Given the description of an element on the screen output the (x, y) to click on. 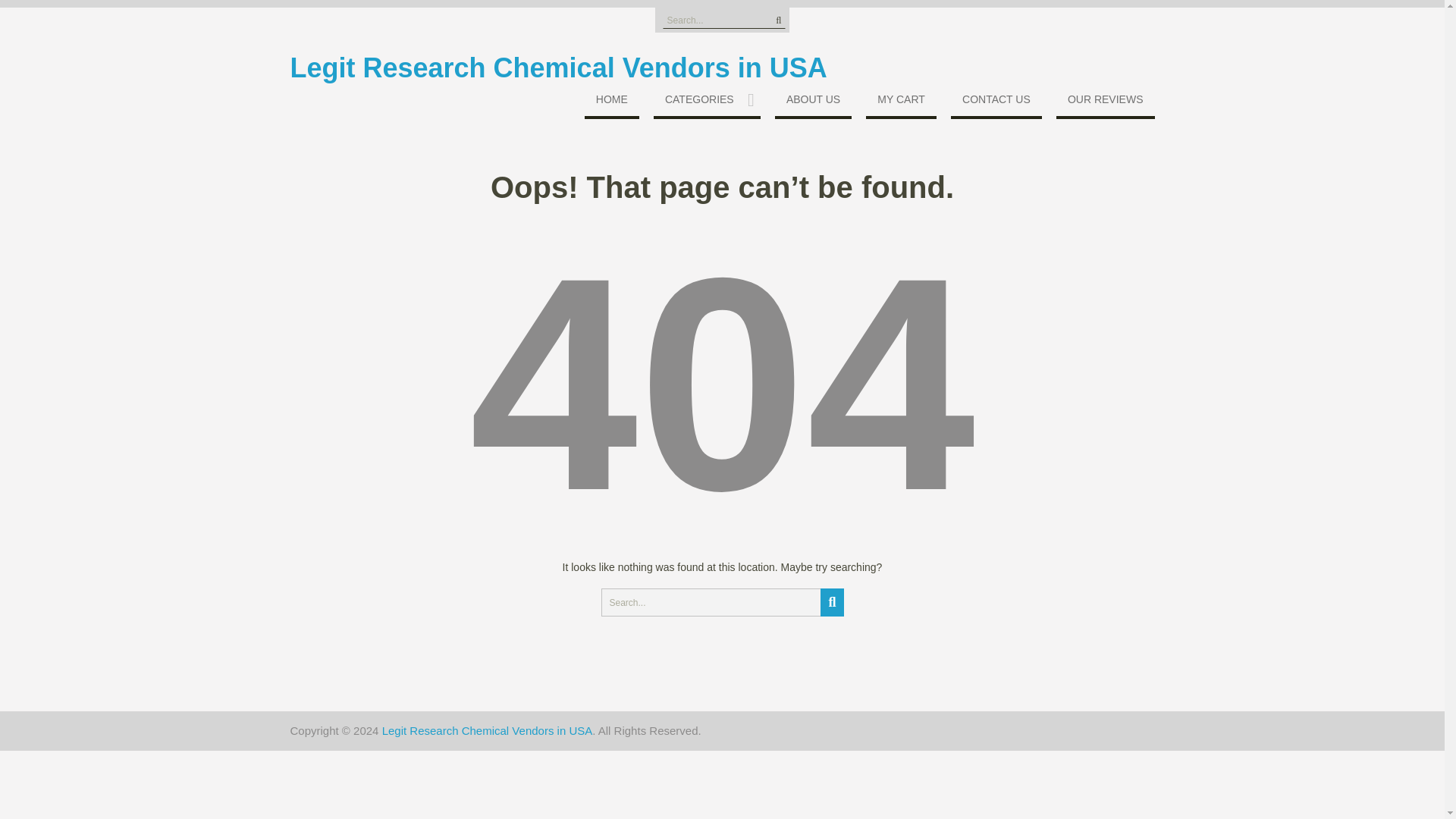
ABOUT US (812, 101)
CATEGORIES (706, 101)
OUR REVIEWS (1105, 101)
Legit Research Chemical Vendors in USA (486, 730)
CONTACT US (996, 101)
HOME (612, 101)
Legit Research Chemical Vendors in USA (558, 67)
Legit Research Chemical Vendors in USA (486, 730)
MY CART (901, 101)
